Given the description of an element on the screen output the (x, y) to click on. 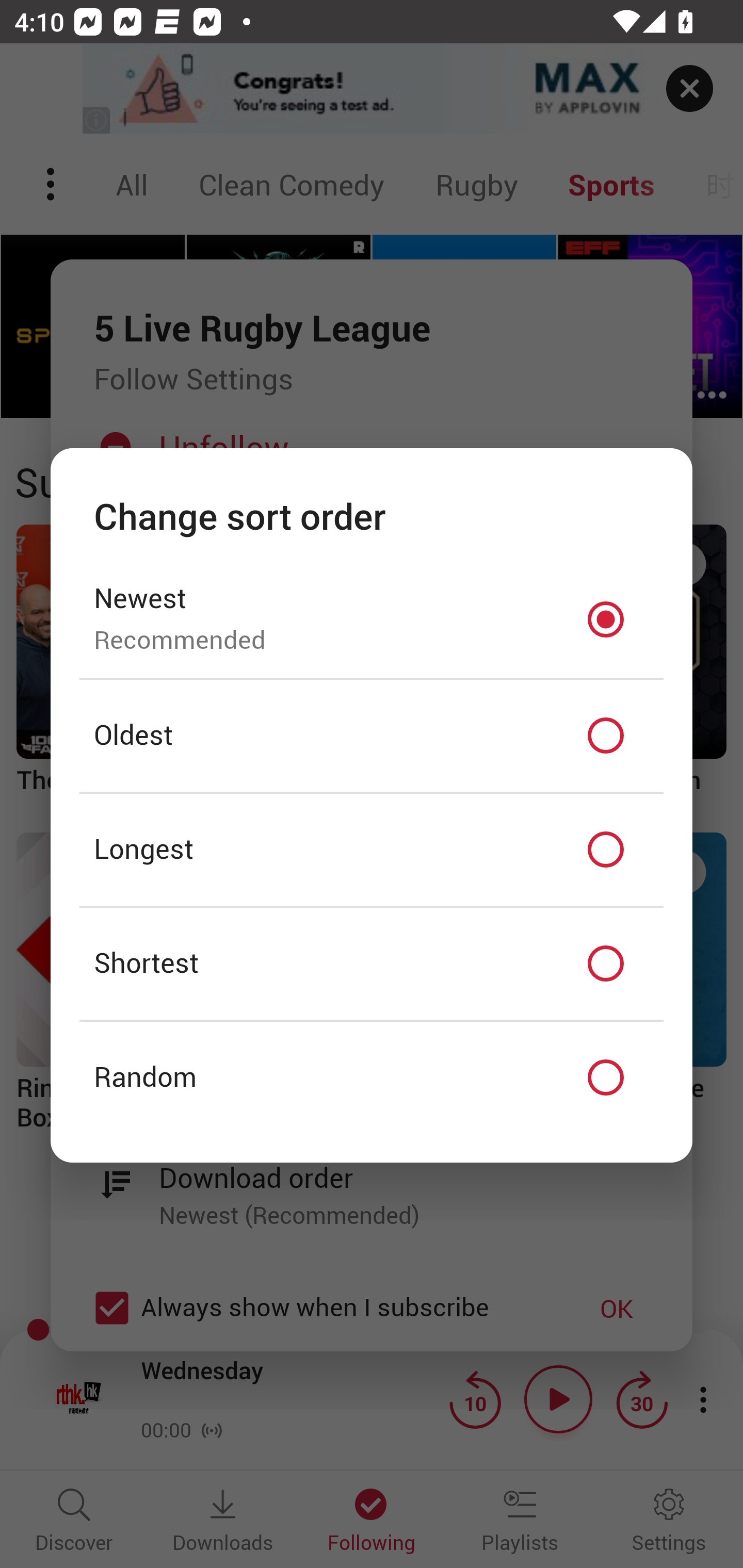
Newest Recommended (371, 619)
Oldest (371, 735)
Longest (371, 849)
Shortest (371, 963)
Random (371, 1077)
